Given the description of an element on the screen output the (x, y) to click on. 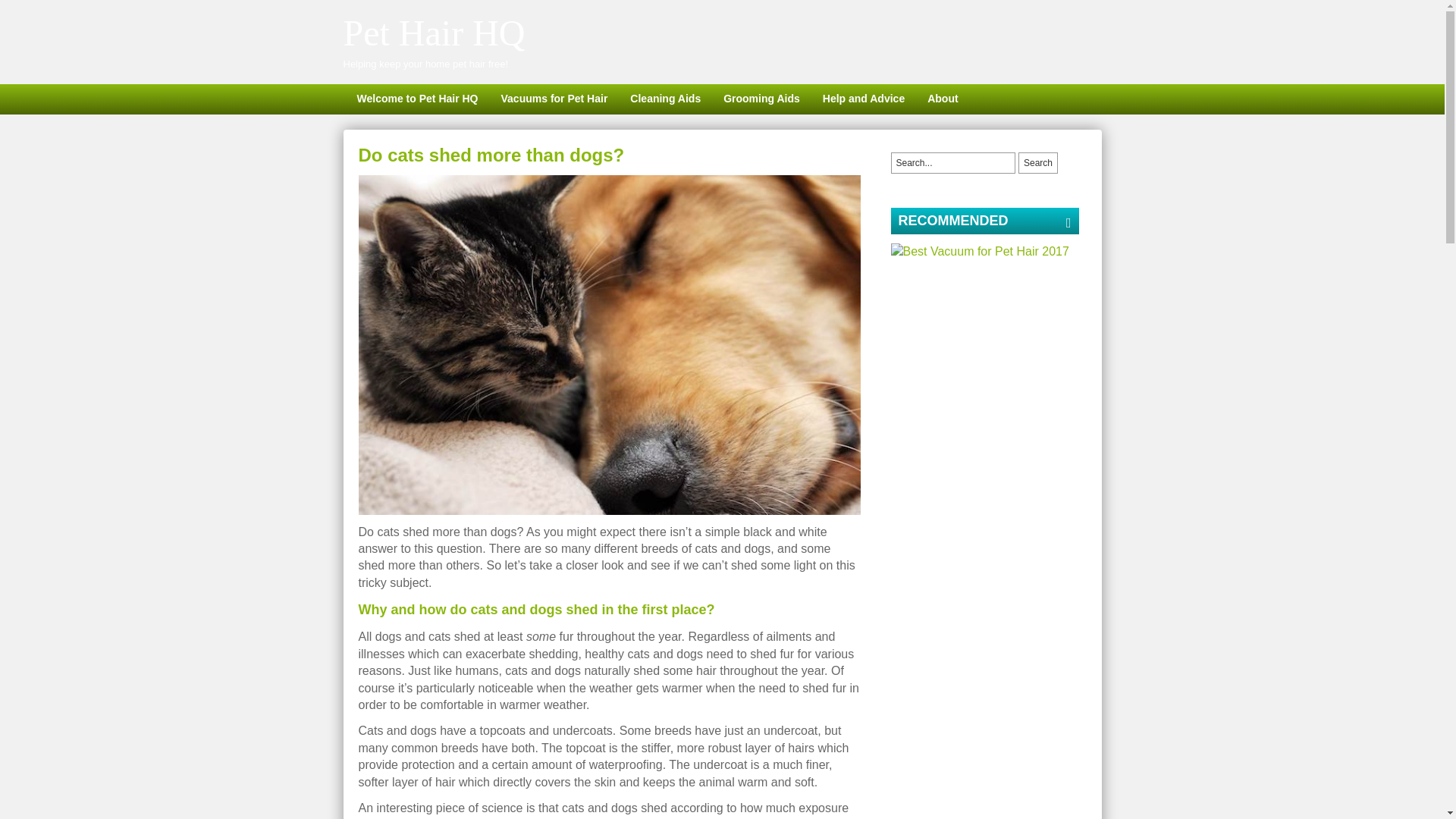
Search (1037, 162)
Search... (951, 162)
Welcome to Pet Hair HQ (415, 99)
Vacuums for Pet Hair (554, 99)
About (942, 99)
Search (1037, 162)
Grooming Aids (760, 99)
Help and Advice (862, 99)
Cleaning Aids (664, 99)
Search (1037, 162)
Pet Hair HQ (433, 33)
